Given the description of an element on the screen output the (x, y) to click on. 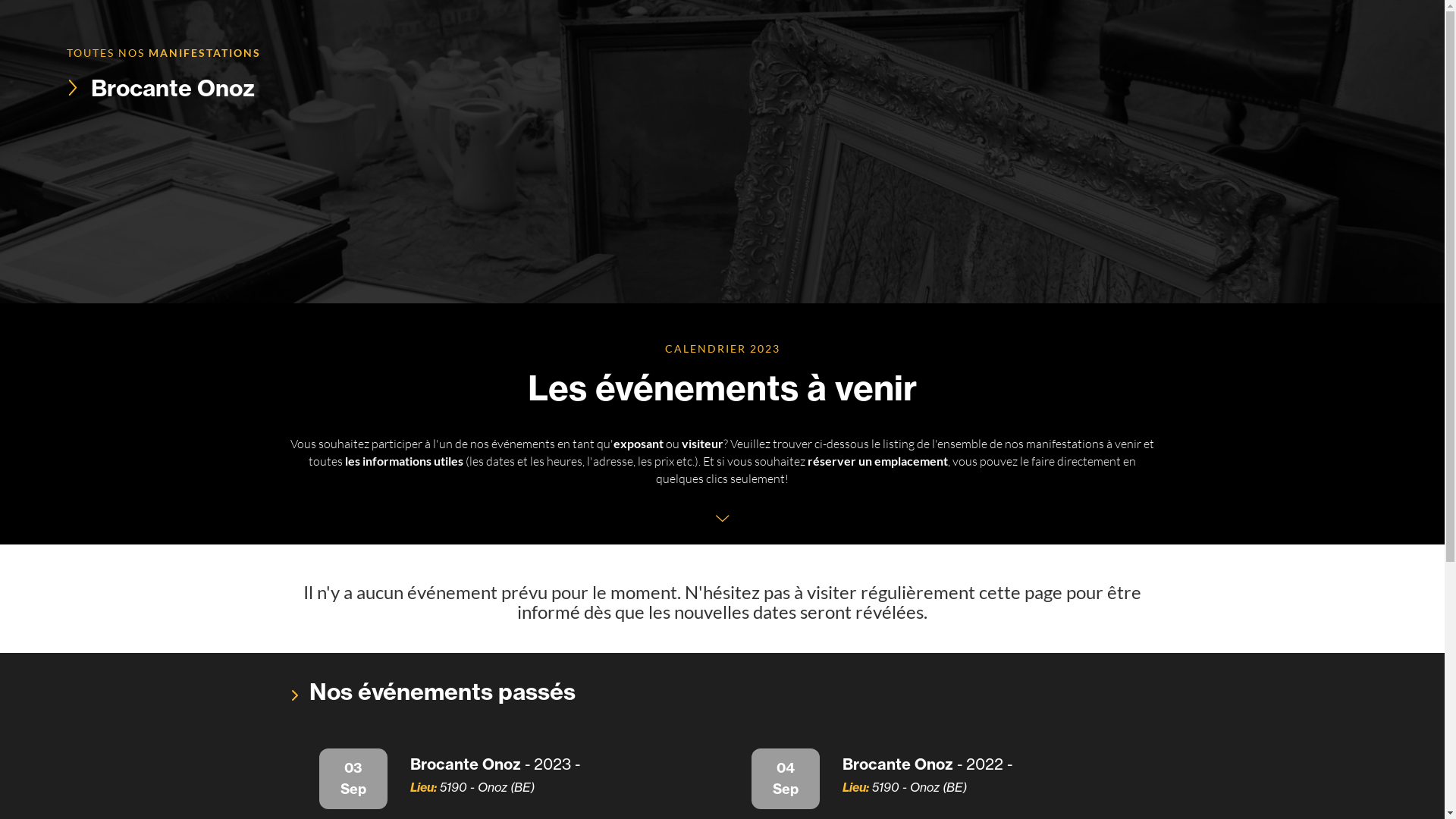
03

Sep
Brocante Onoz - 2023 -
Lieu: 5190 - Onoz (BE) Element type: text (506, 778)
04

Sep
Brocante Onoz - 2022 -
Lieu: 5190 - Onoz (BE) Element type: text (938, 778)
